Given the description of an element on the screen output the (x, y) to click on. 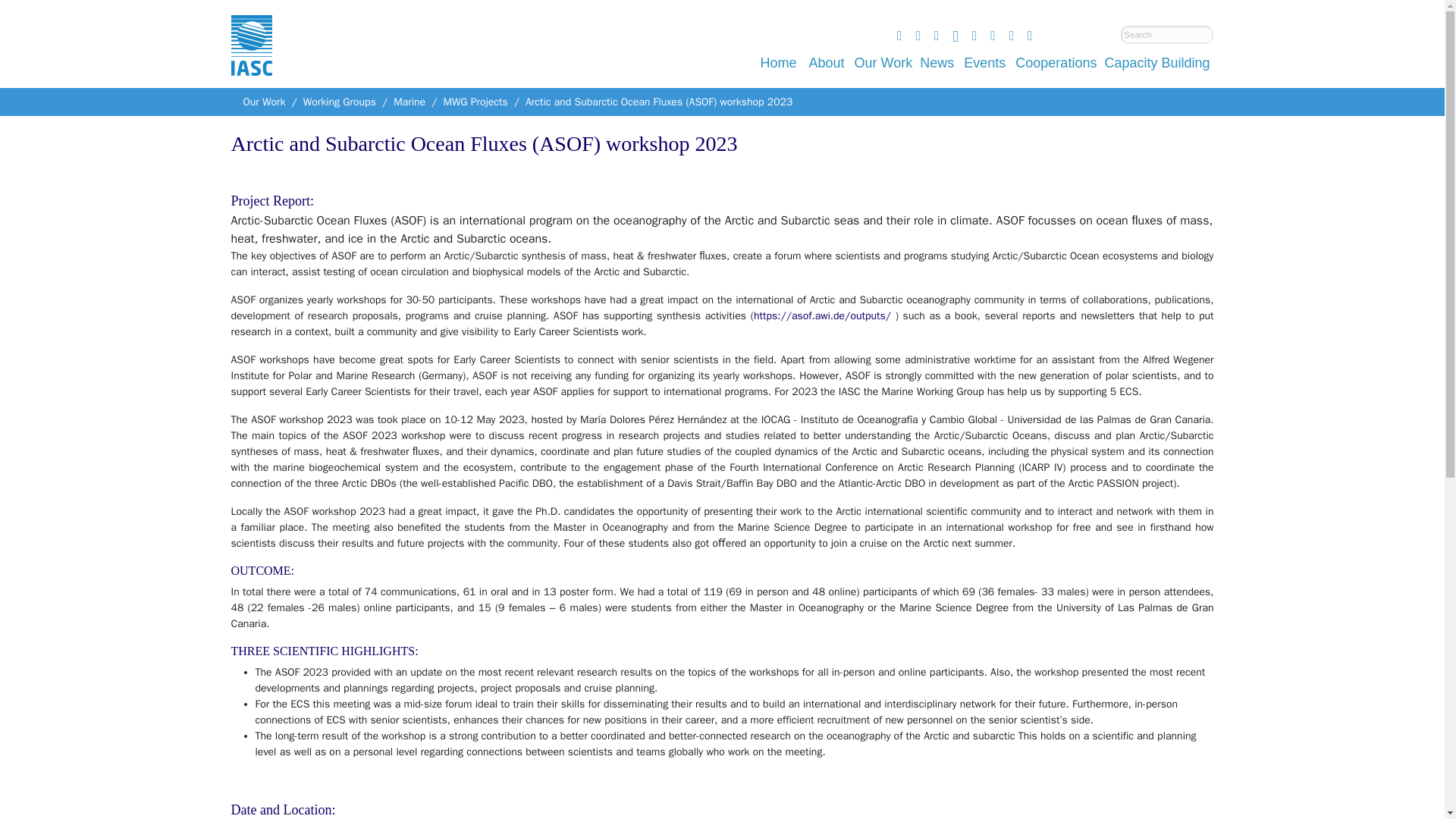
About (826, 62)
Home (778, 62)
International Arctic Science Committee (250, 61)
